Given the description of an element on the screen output the (x, y) to click on. 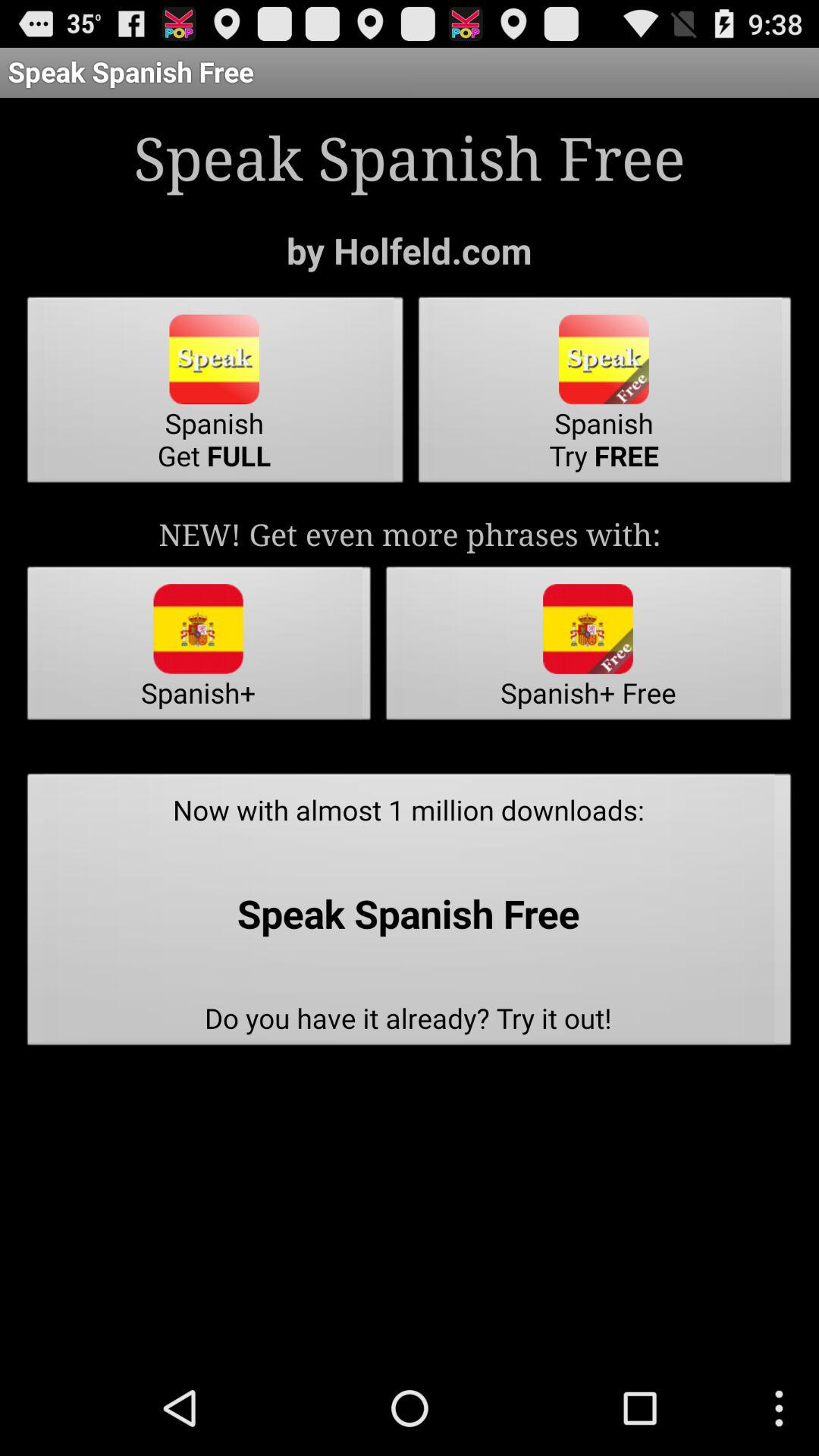
press item next to the spanish
try free icon (215, 394)
